Given the description of an element on the screen output the (x, y) to click on. 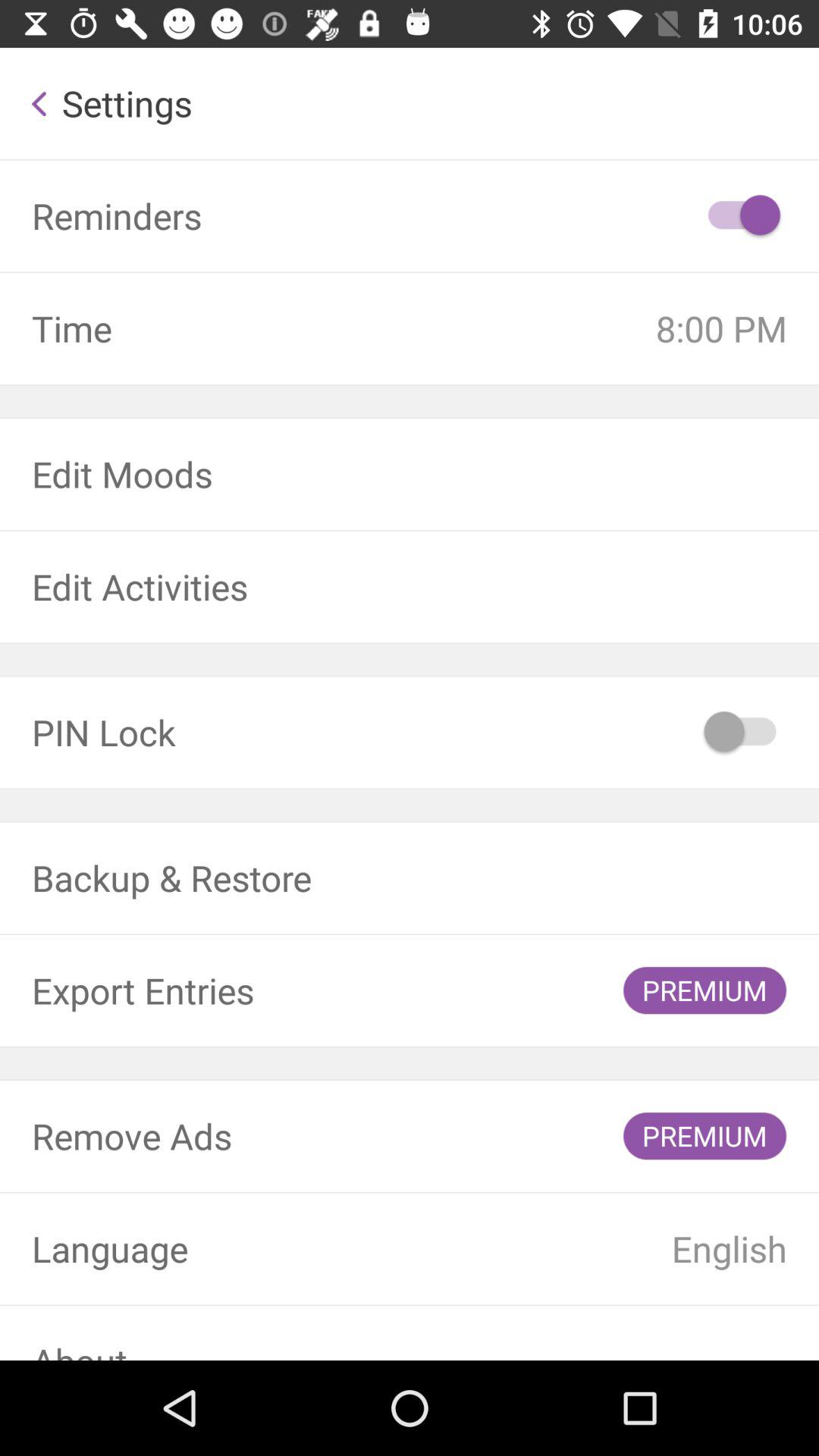
toggle reminder option (742, 216)
